Given the description of an element on the screen output the (x, y) to click on. 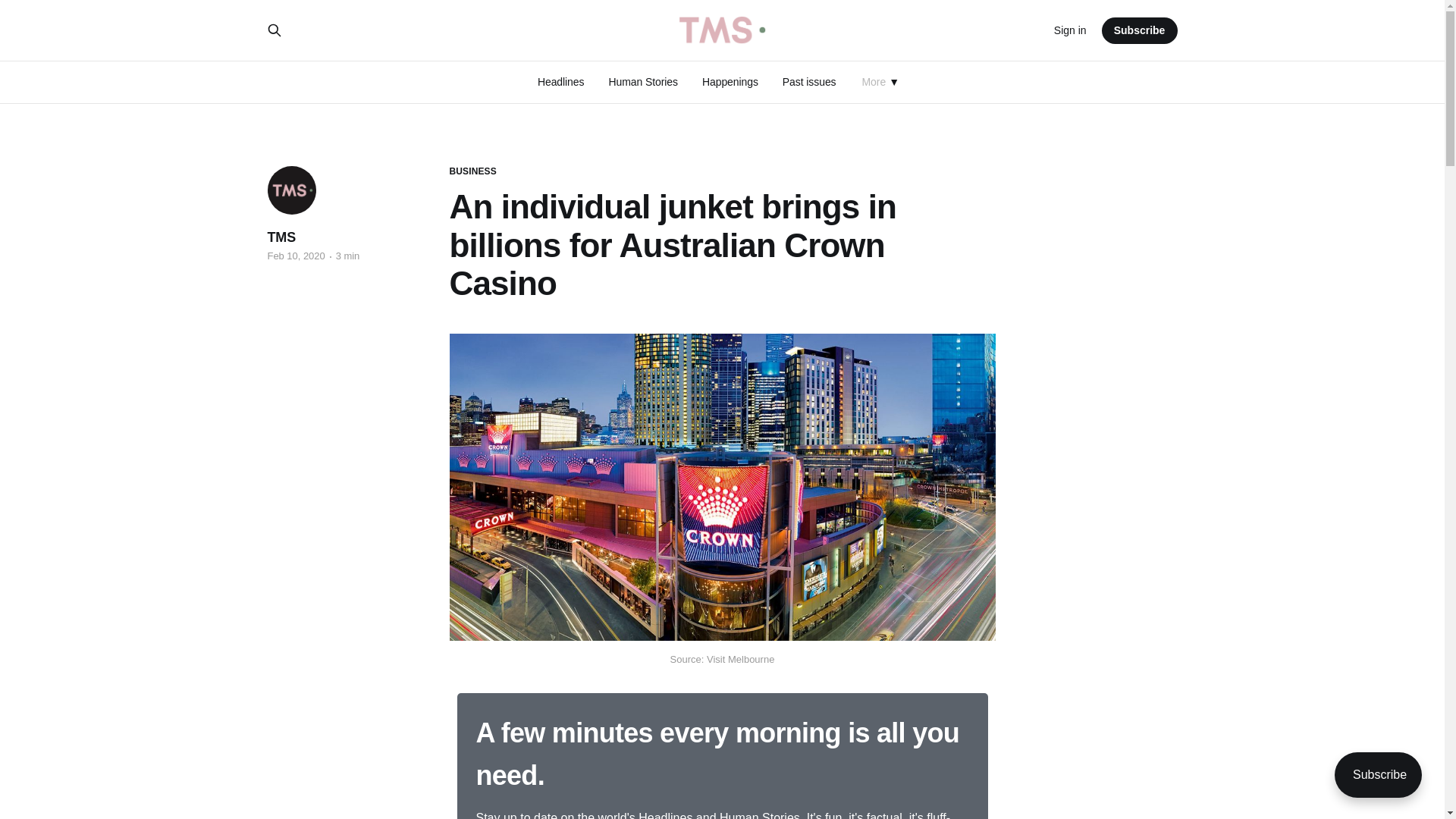
Past issues (809, 81)
Human Stories (643, 81)
Headlines (561, 81)
Happenings (729, 81)
